Given the description of an element on the screen output the (x, y) to click on. 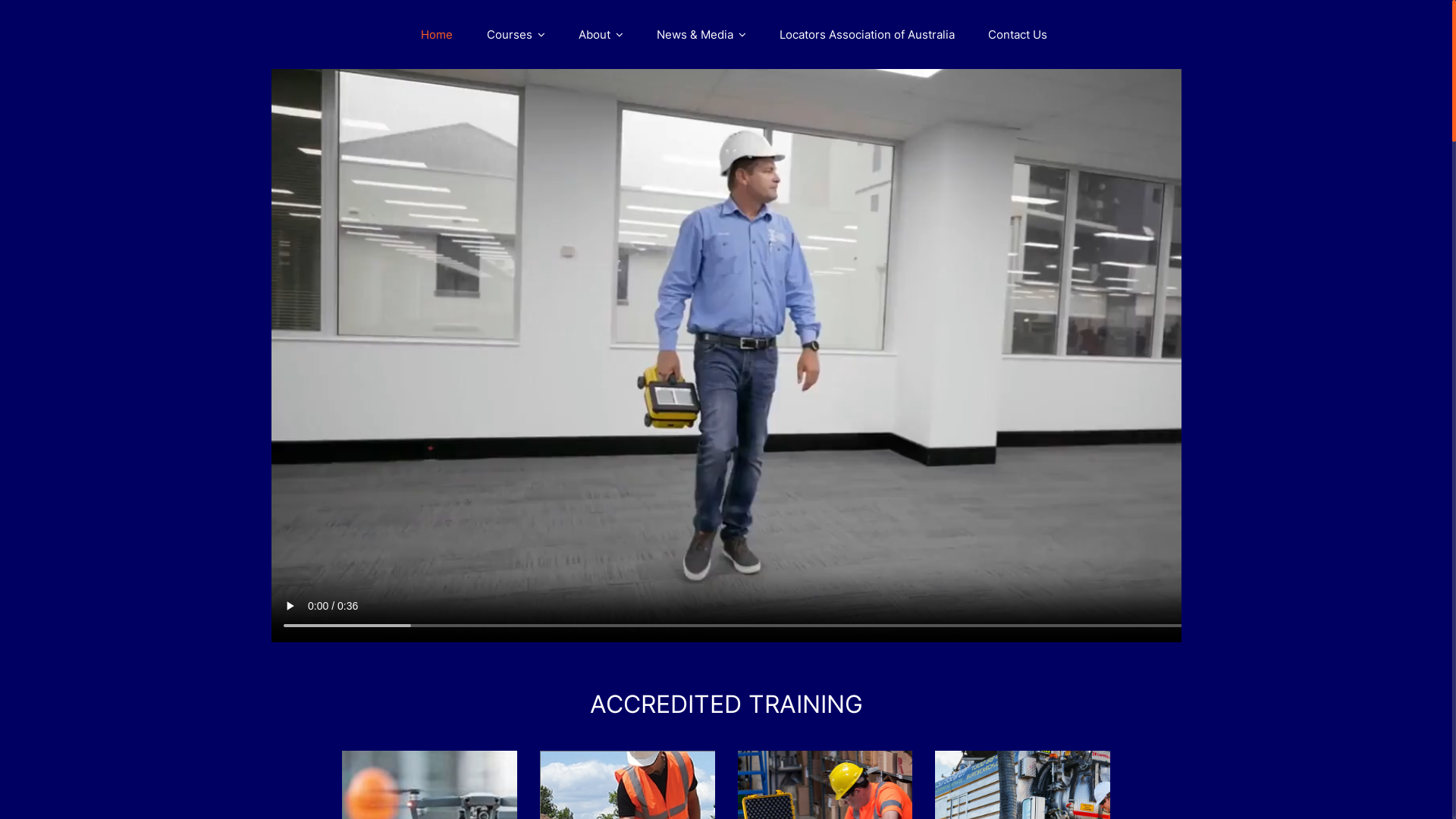
Home Element type: text (435, 34)
Contact Us Element type: text (1016, 34)
News & Media Element type: text (701, 34)
Skip to content Element type: text (0, 0)
About Element type: text (599, 34)
Locators Association of Australia Element type: text (866, 34)
Courses Element type: text (515, 34)
